Given the description of an element on the screen output the (x, y) to click on. 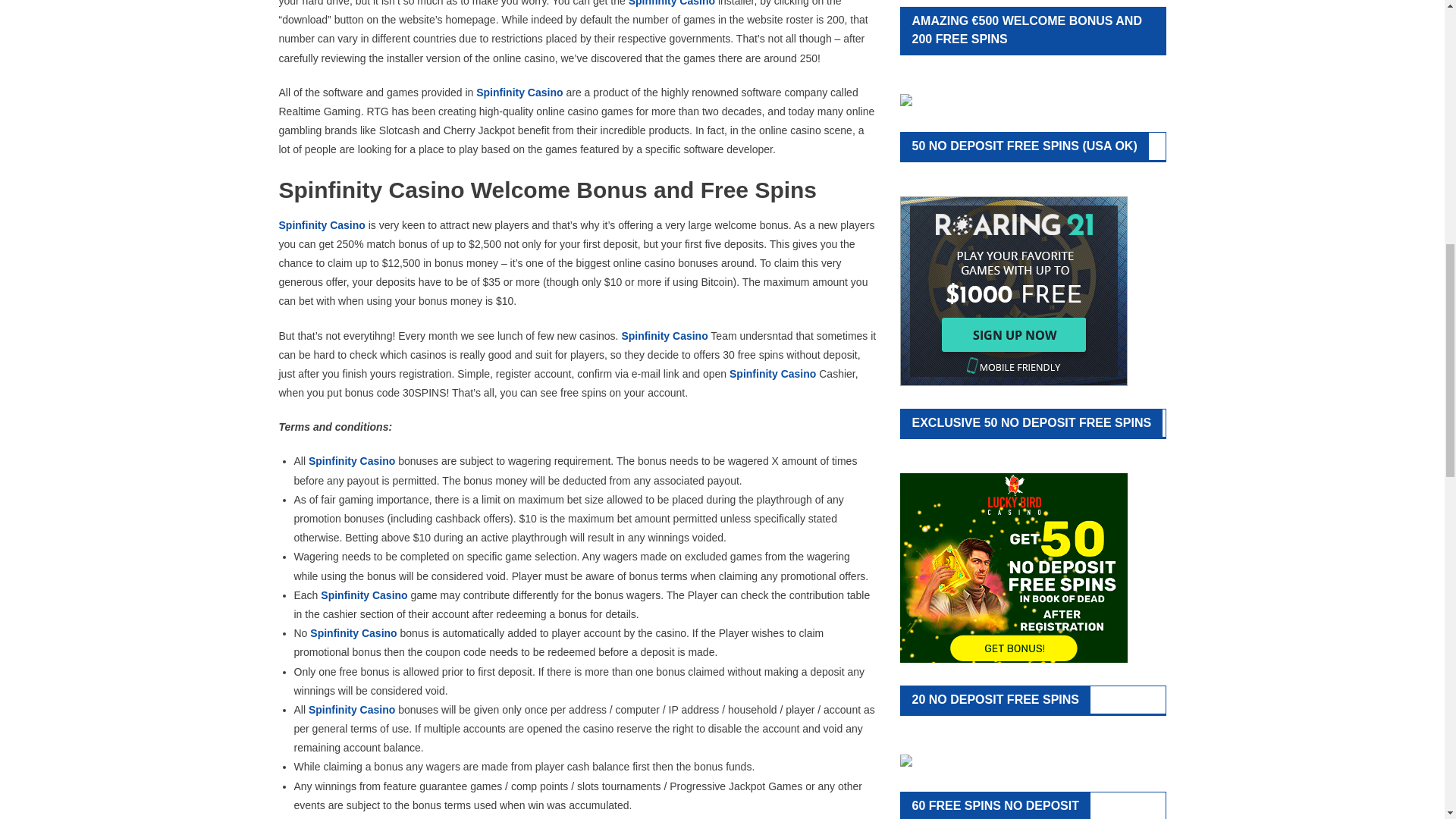
Spinfinity Casino (772, 373)
Spinfinity Casino (363, 594)
Spinfinity Casino (353, 633)
Spinfinity Casino (519, 92)
Spinfinity Casino (351, 709)
Spinfinity Casino (322, 224)
Spinfinity Casino (351, 460)
Spinfinity Casino (664, 336)
Spinfinity Casino (671, 3)
